Given the description of an element on the screen output the (x, y) to click on. 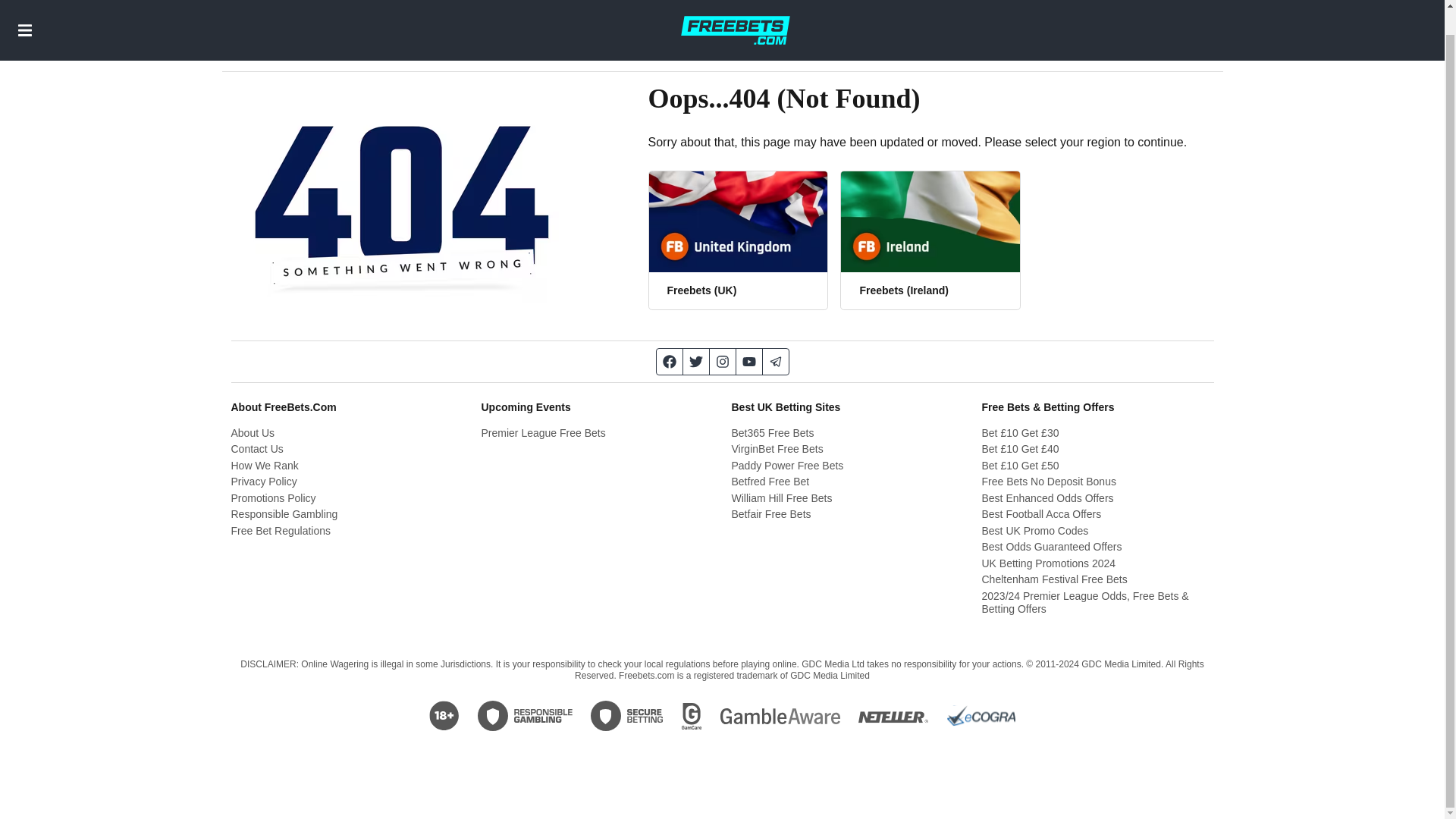
Instagram page (723, 361)
Twitter feed (695, 361)
Facebook page (669, 361)
Telegram (775, 361)
Youtube page (748, 361)
FreeBets Logo (735, 16)
